Given the description of an element on the screen output the (x, y) to click on. 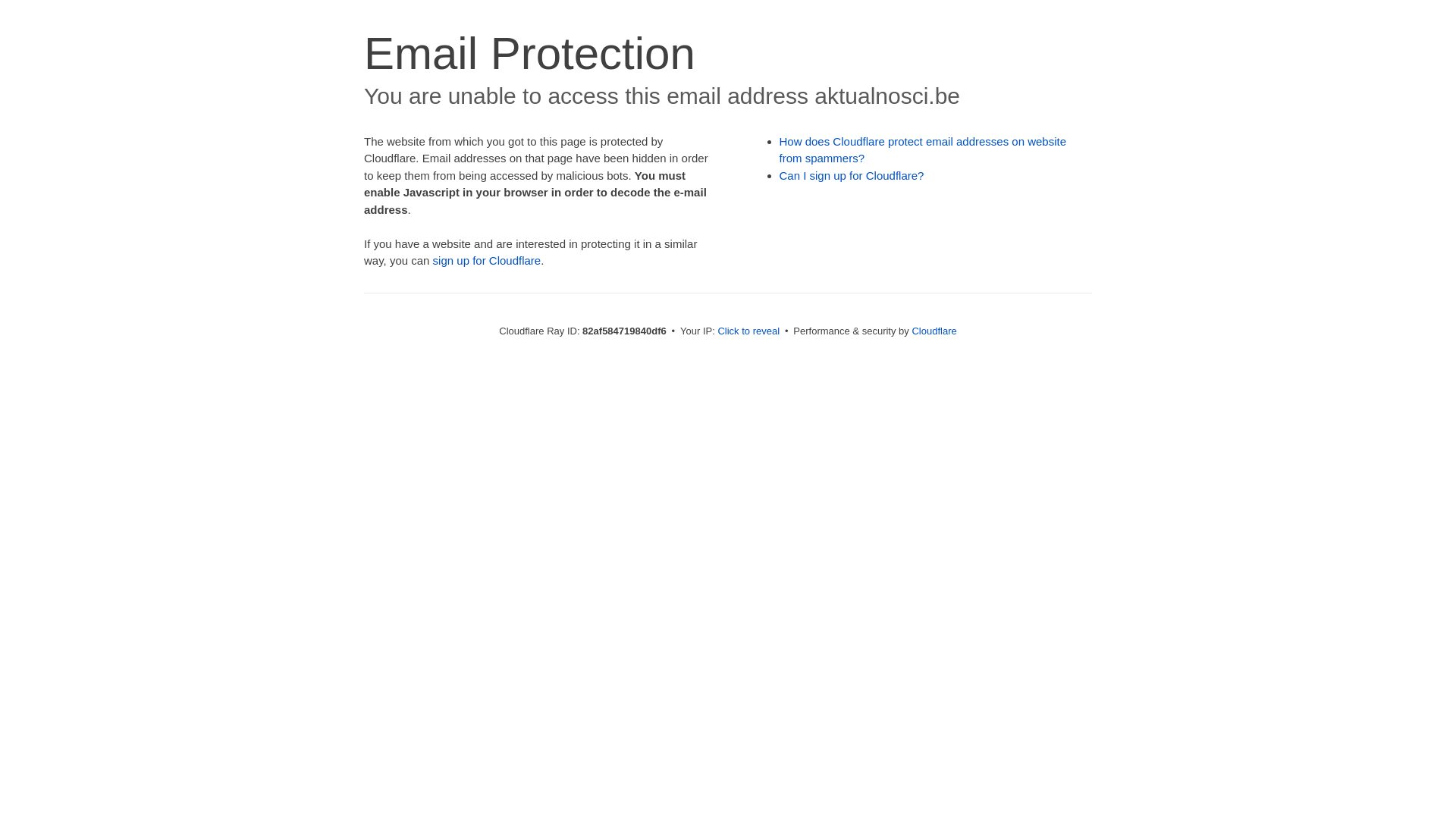
Can I sign up for Cloudflare? Element type: text (851, 175)
sign up for Cloudflare Element type: text (487, 260)
Click to reveal Element type: text (748, 330)
Cloudflare Element type: text (933, 330)
